Given the description of an element on the screen output the (x, y) to click on. 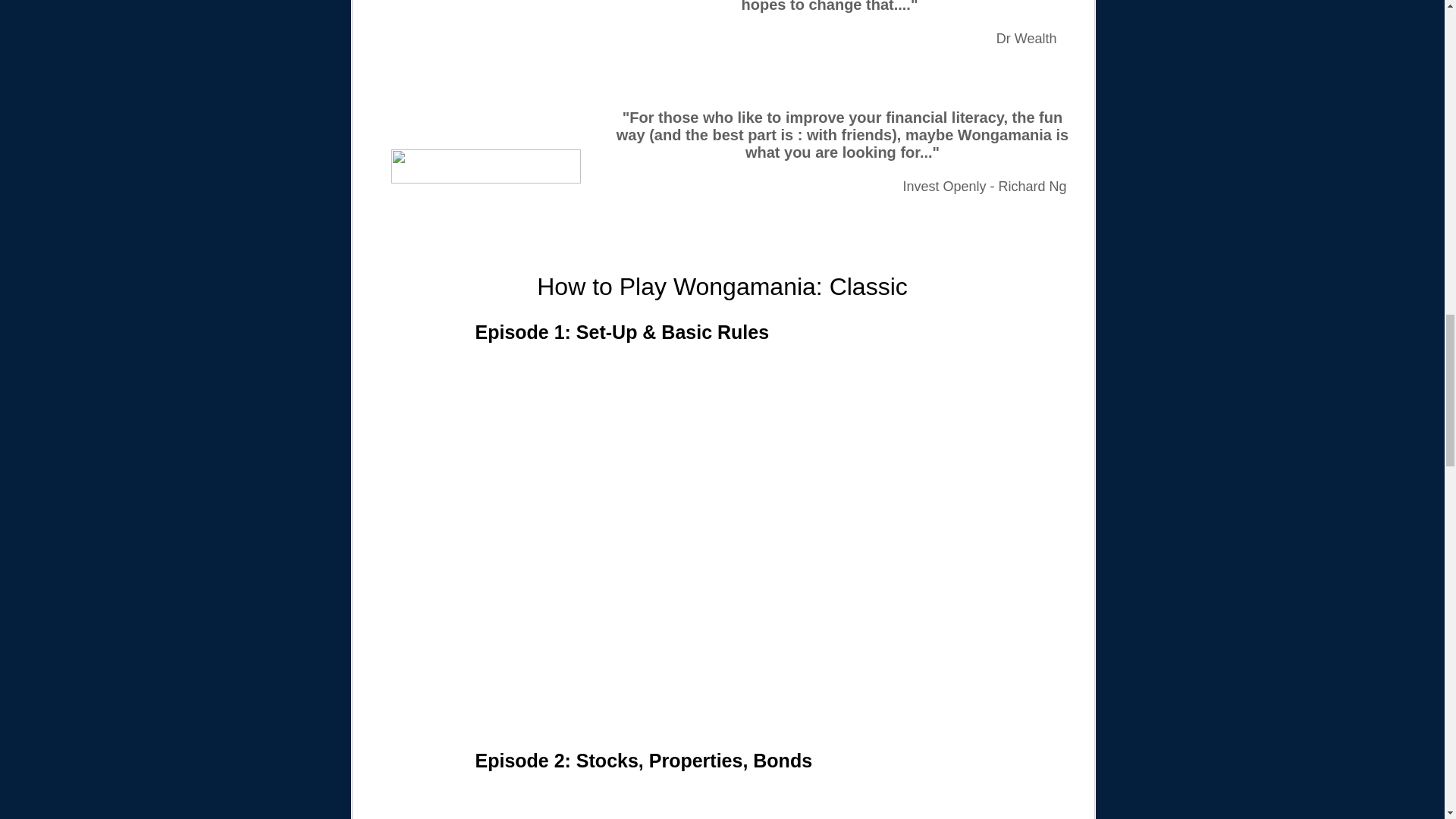
External YouTube (722, 800)
Dr Wealth (1026, 38)
Invest Openly - Richard Ng  (986, 186)
